Given the description of an element on the screen output the (x, y) to click on. 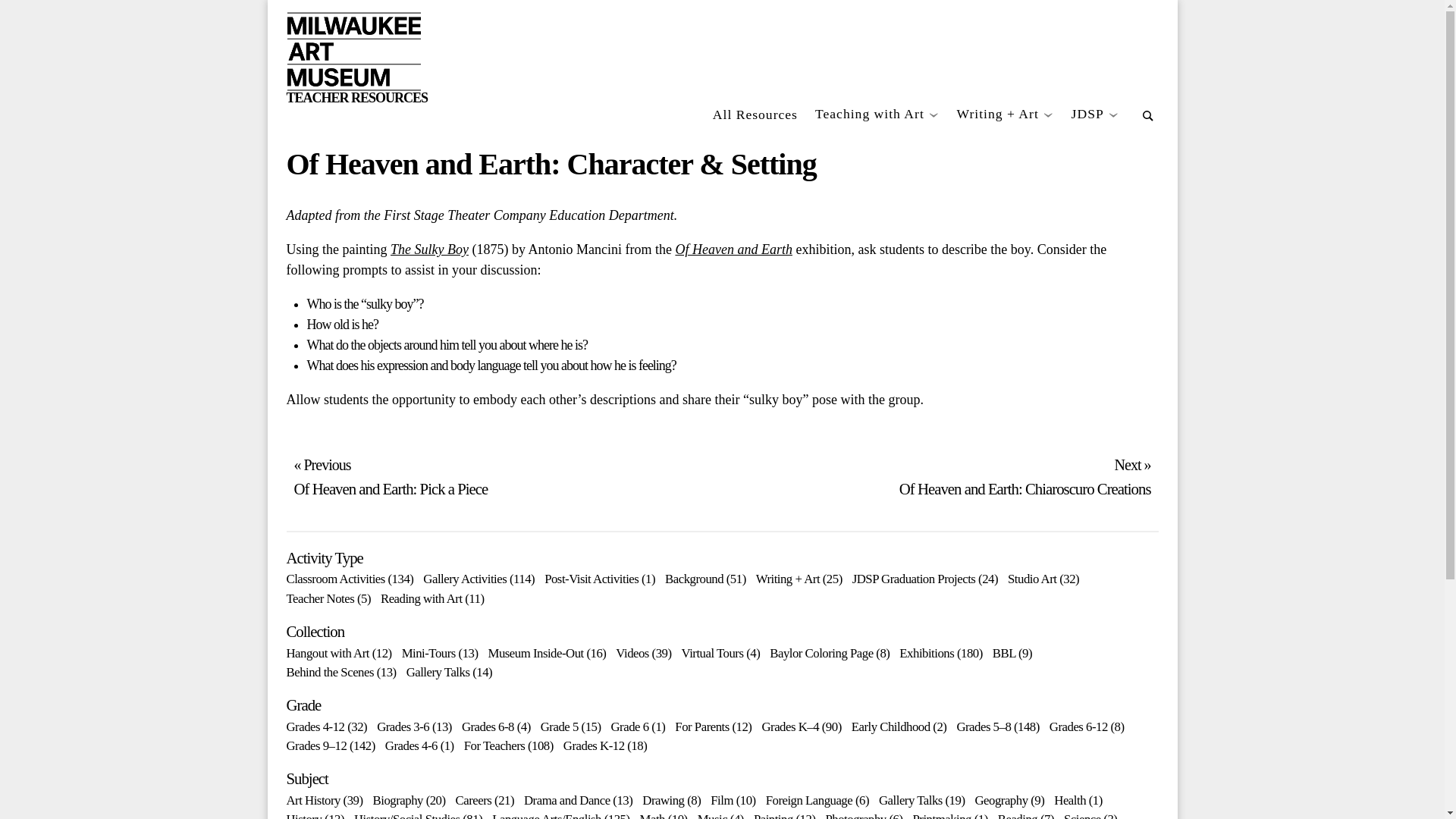
The Sulky Boy (429, 249)
Reading with Art (421, 598)
Classroom Activities (335, 578)
JDSP Graduation Projects (913, 578)
All Resources (754, 114)
Teaching with Art (877, 114)
Background (694, 578)
Teacher Notes (320, 598)
Post-Visit Activities (591, 578)
Junior Docent School Program (1095, 114)
